Given the description of an element on the screen output the (x, y) to click on. 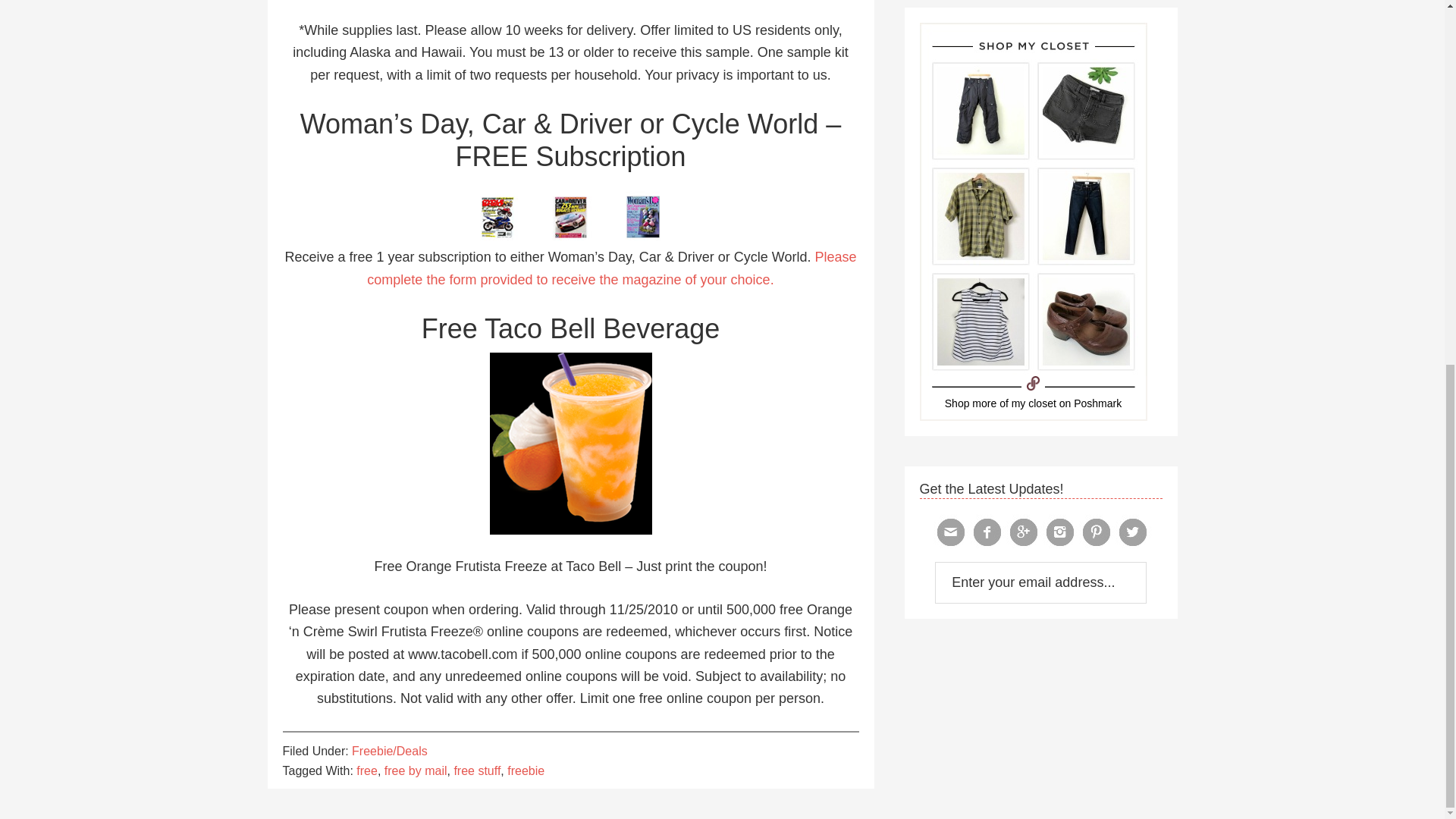
image (570, 443)
my closet (1034, 403)
free by mail (415, 770)
image (570, 213)
Poshmark (1097, 403)
free (366, 770)
free stuff (476, 770)
freebie (525, 770)
withourbest (1034, 403)
